Given the description of an element on the screen output the (x, y) to click on. 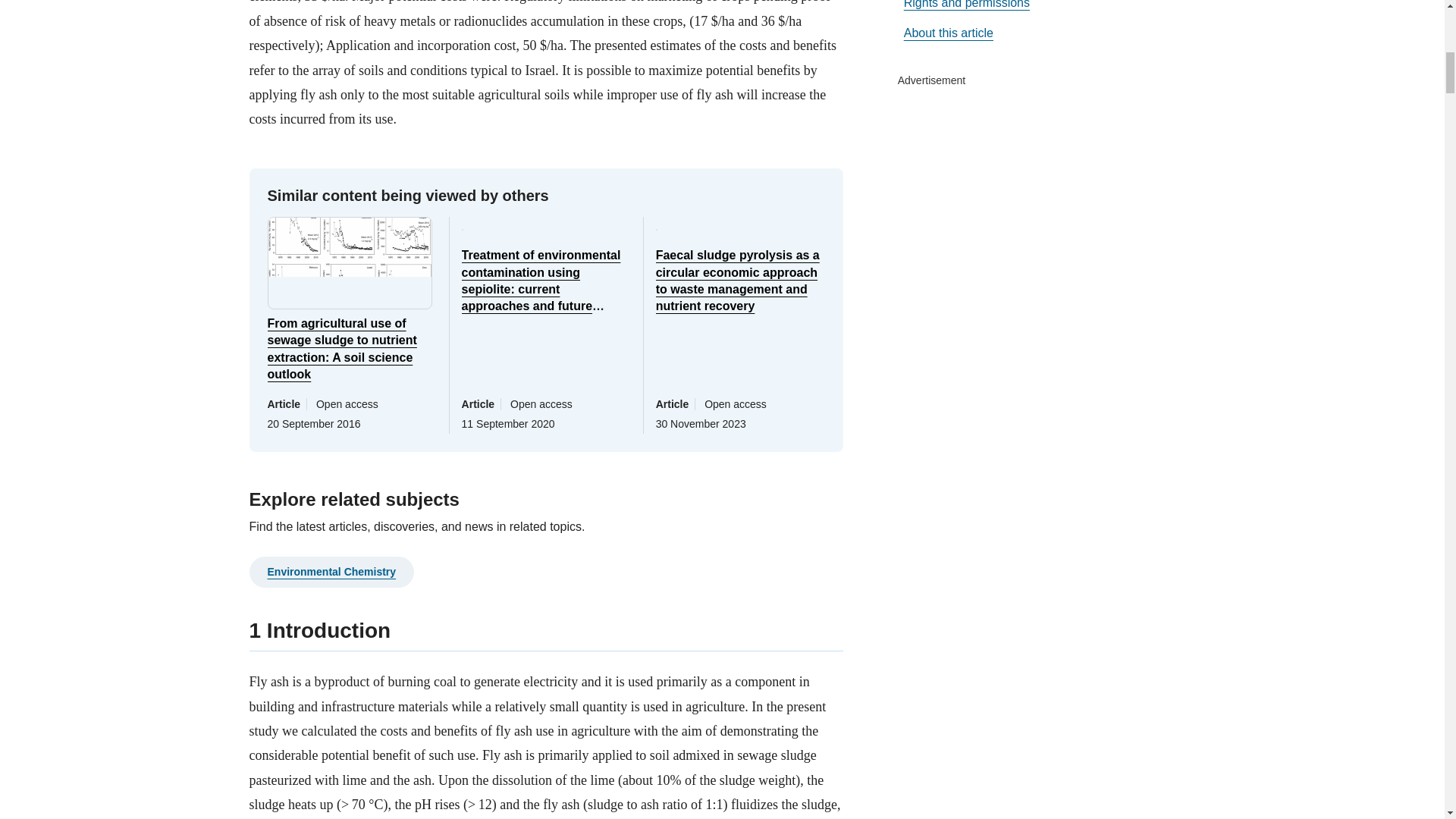
Environmental Chemistry (331, 571)
